Given the description of an element on the screen output the (x, y) to click on. 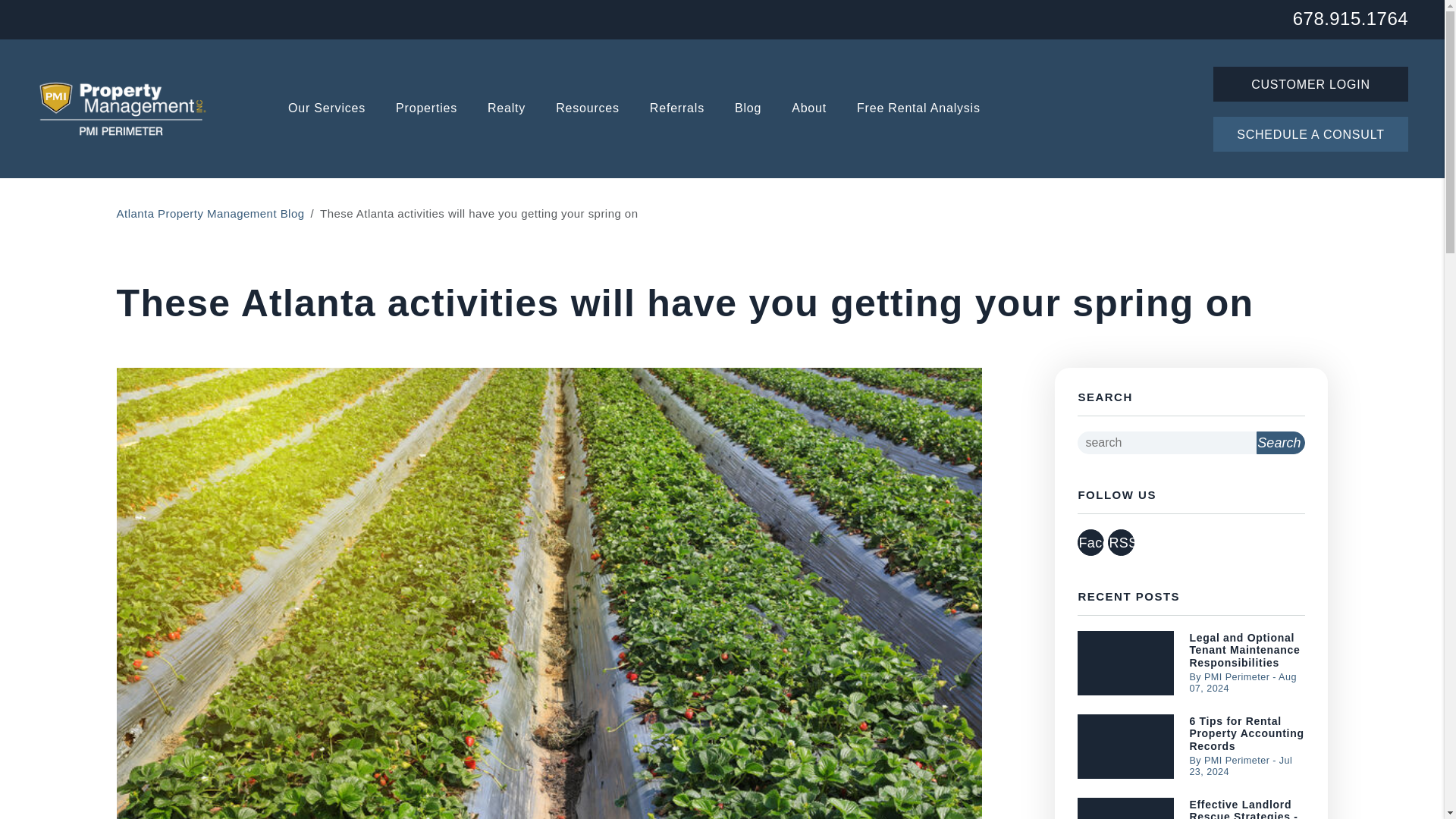
opens in a new window (1121, 542)
Our Services (326, 108)
SCHEDULE A CONSULT (1309, 134)
CUSTOMER LOGIN (1309, 83)
678.915.1764 (1349, 17)
Resources (588, 108)
Realty (506, 108)
Properties (426, 108)
opens in a new window (1090, 542)
At least 3 characters (1166, 442)
